Given the description of an element on the screen output the (x, y) to click on. 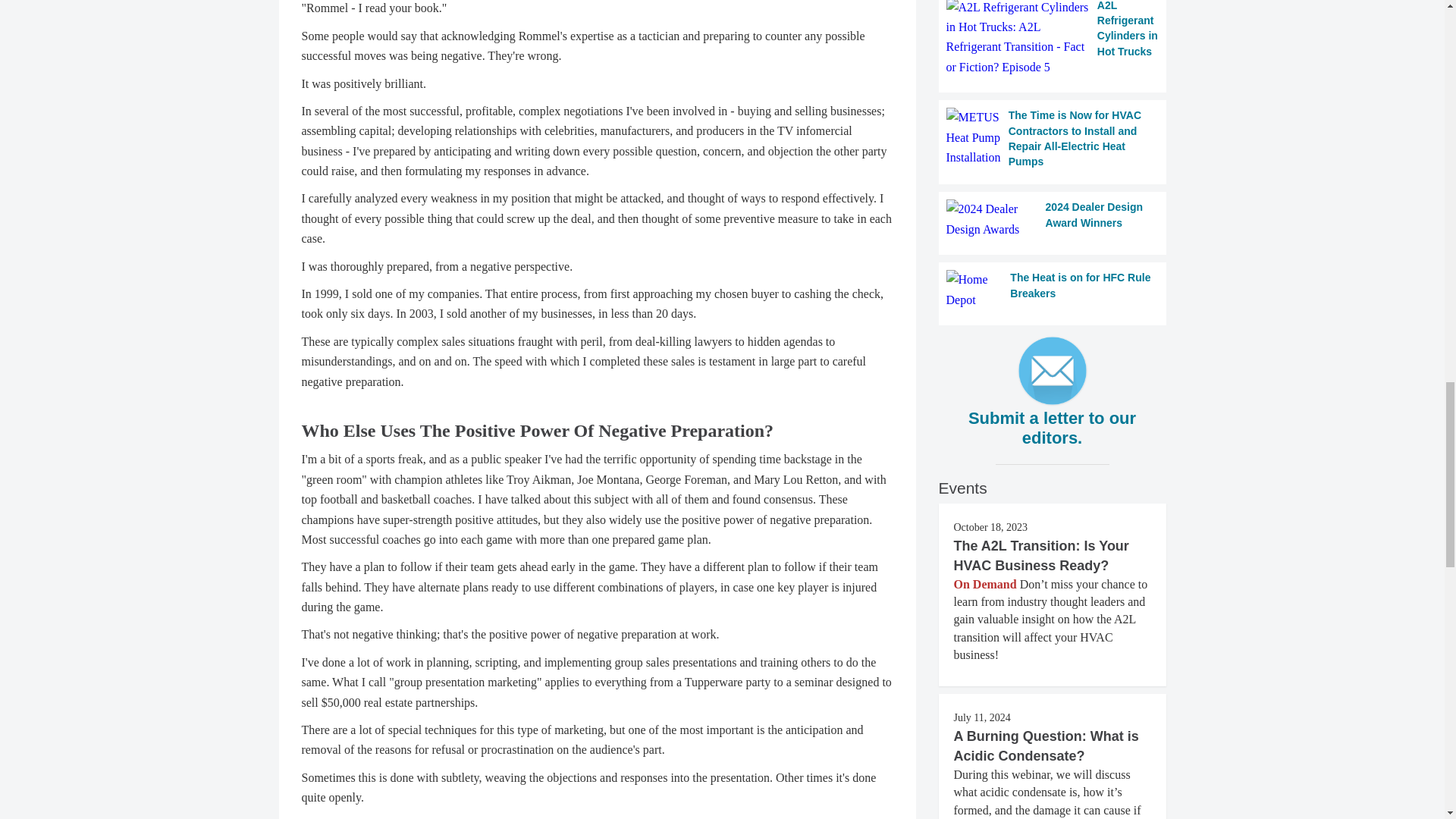
A Burning Question: What is Acidic Condensate? (1045, 745)
2024 Dealer Design Award Winners (1052, 219)
The A2L Transition: Is Your HVAC Business Ready? (1041, 555)
The Heat is on for HFC Rule Breakers (1052, 290)
A2L Refrigerant Cylinders in Hot Trucks (1052, 38)
